Given the description of an element on the screen output the (x, y) to click on. 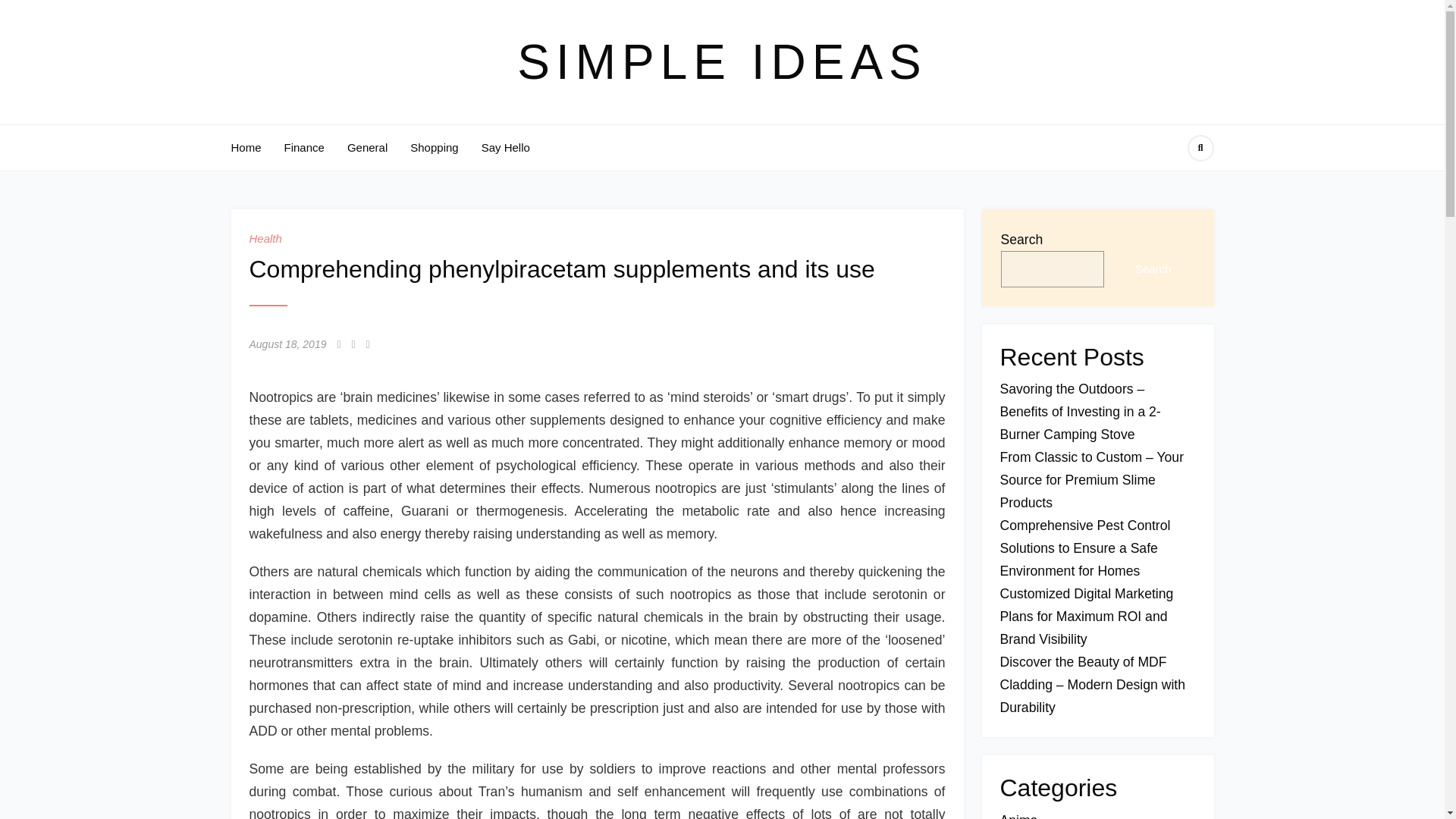
Say Hello (505, 147)
SIMPLE IDEAS (721, 61)
August 18, 2019 (287, 344)
Anime (1017, 816)
Health (264, 237)
Search (1153, 268)
Shopping (434, 147)
